Given the description of an element on the screen output the (x, y) to click on. 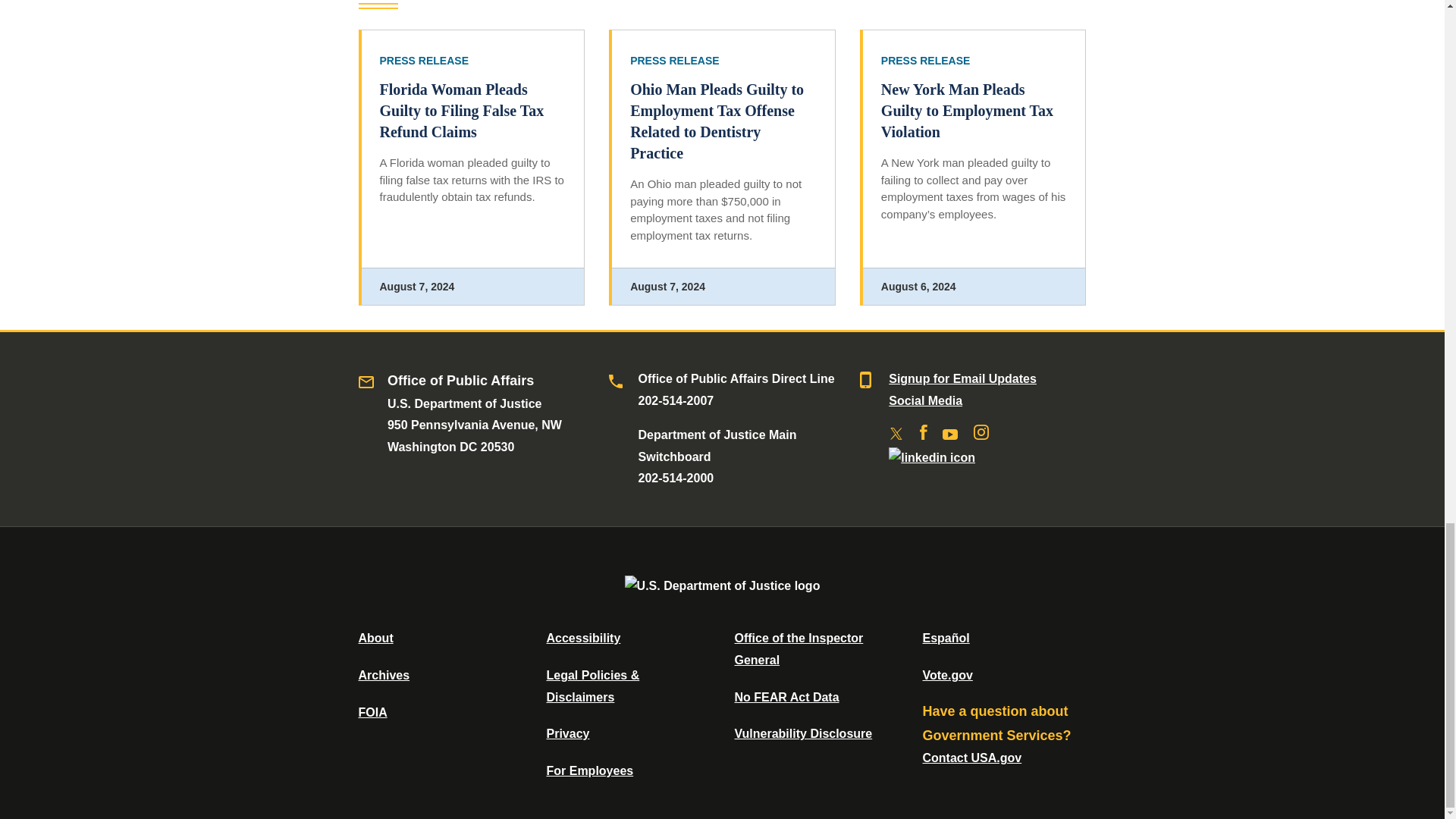
For Employees (589, 770)
Accessibility Statement (583, 637)
Department of Justice Archive (383, 675)
Legal Policies and Disclaimers (592, 686)
About DOJ (375, 637)
Office of Information Policy (372, 712)
Data Posted Pursuant To The No Fear Act (785, 697)
